Given the description of an element on the screen output the (x, y) to click on. 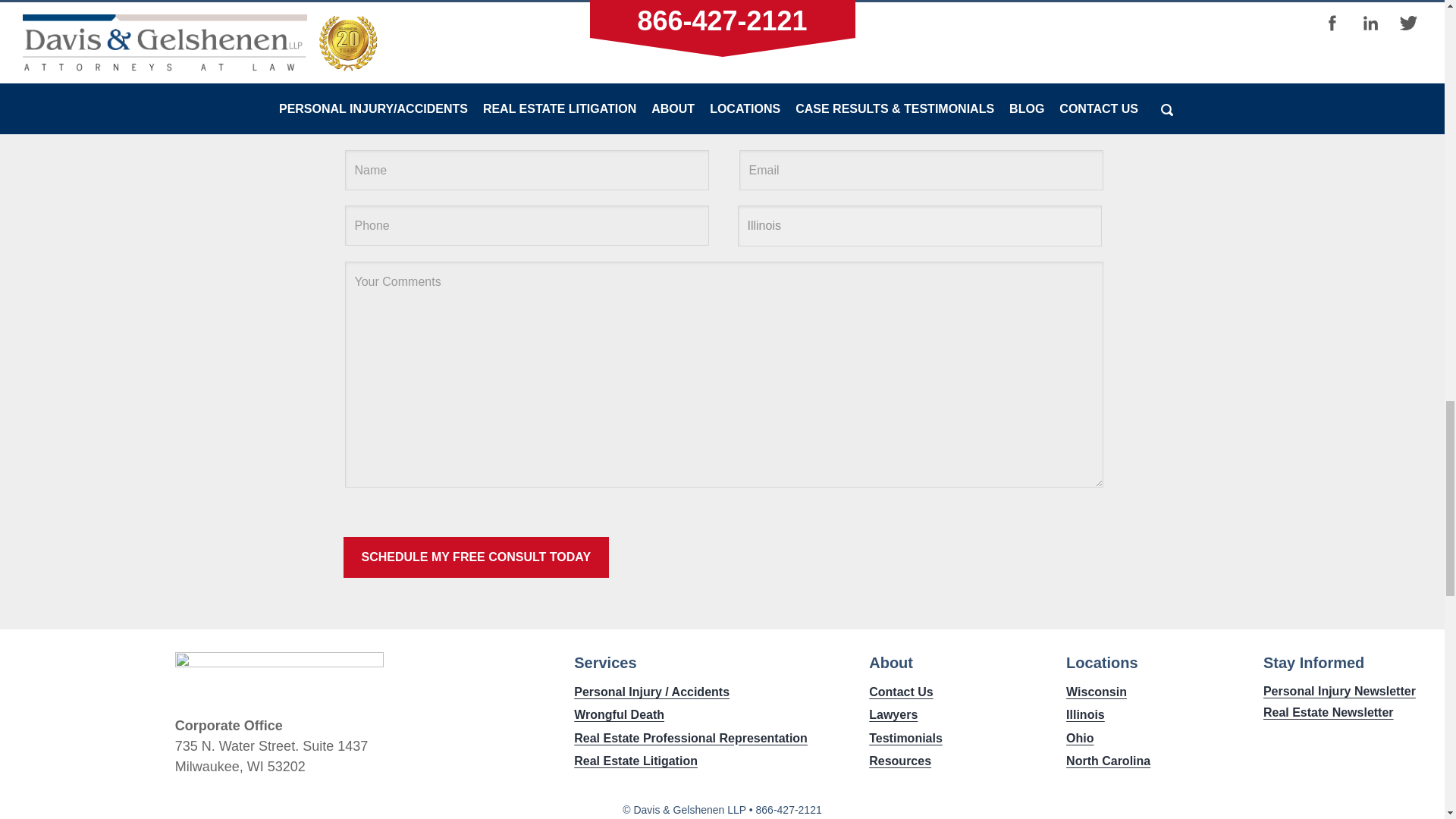
Schedule My FREE Consult Today (475, 557)
